Given the description of an element on the screen output the (x, y) to click on. 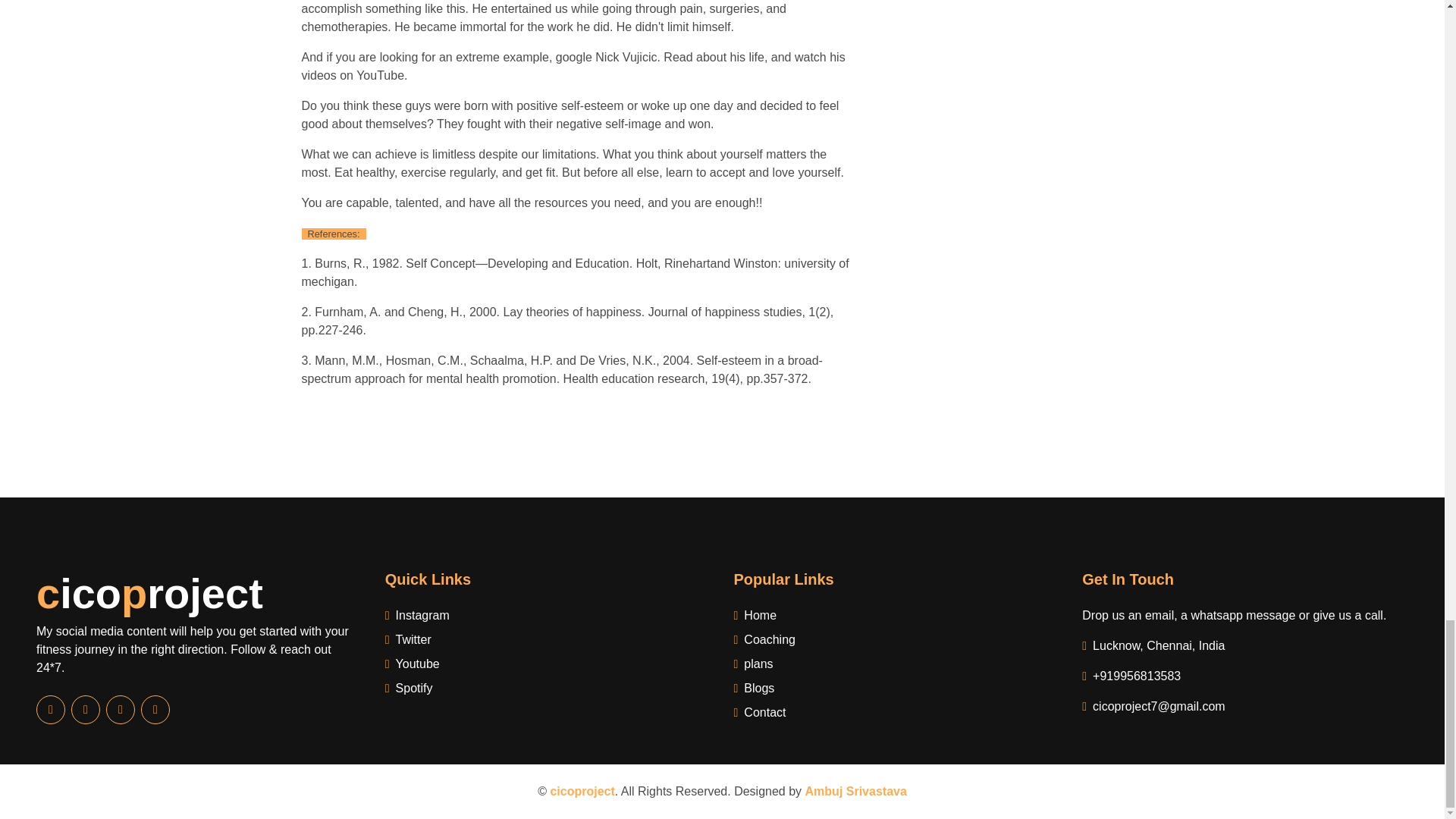
Spotify (548, 688)
Blogs (896, 688)
cicoproject (149, 596)
Home (896, 615)
Youtube (548, 664)
Instagram (548, 615)
Contact (896, 712)
Coaching (896, 639)
plans (896, 664)
cicoproject (582, 790)
Twitter (548, 639)
Ambuj Srivastava (856, 790)
